Given the description of an element on the screen output the (x, y) to click on. 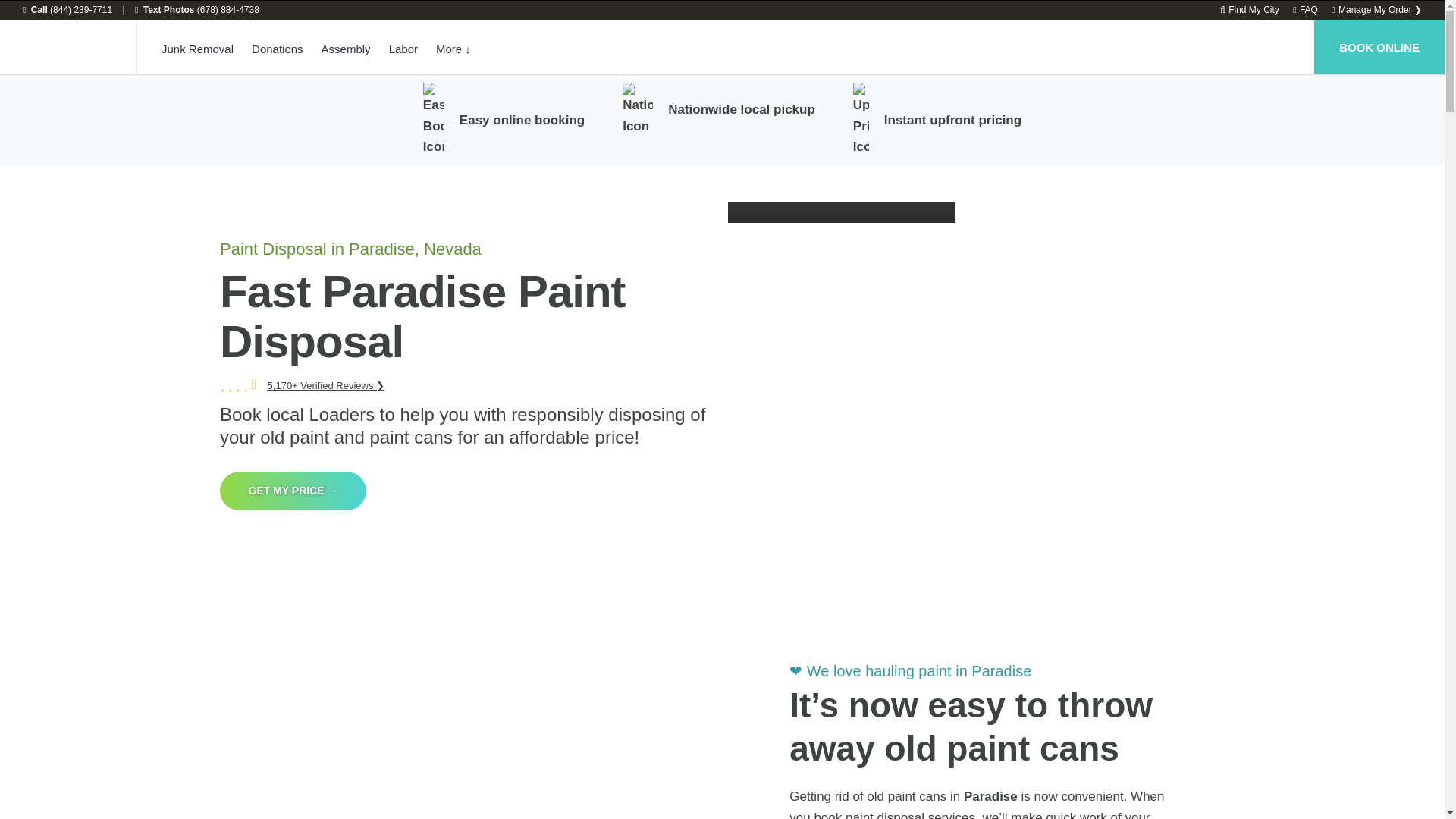
Knowledge Base (1304, 9)
Call LoadUp (67, 9)
Tracking My Order (1377, 9)
View LoadUp Customer Reviews (325, 385)
Find My City (1249, 9)
Text LoadUp (197, 9)
